Given the description of an element on the screen output the (x, y) to click on. 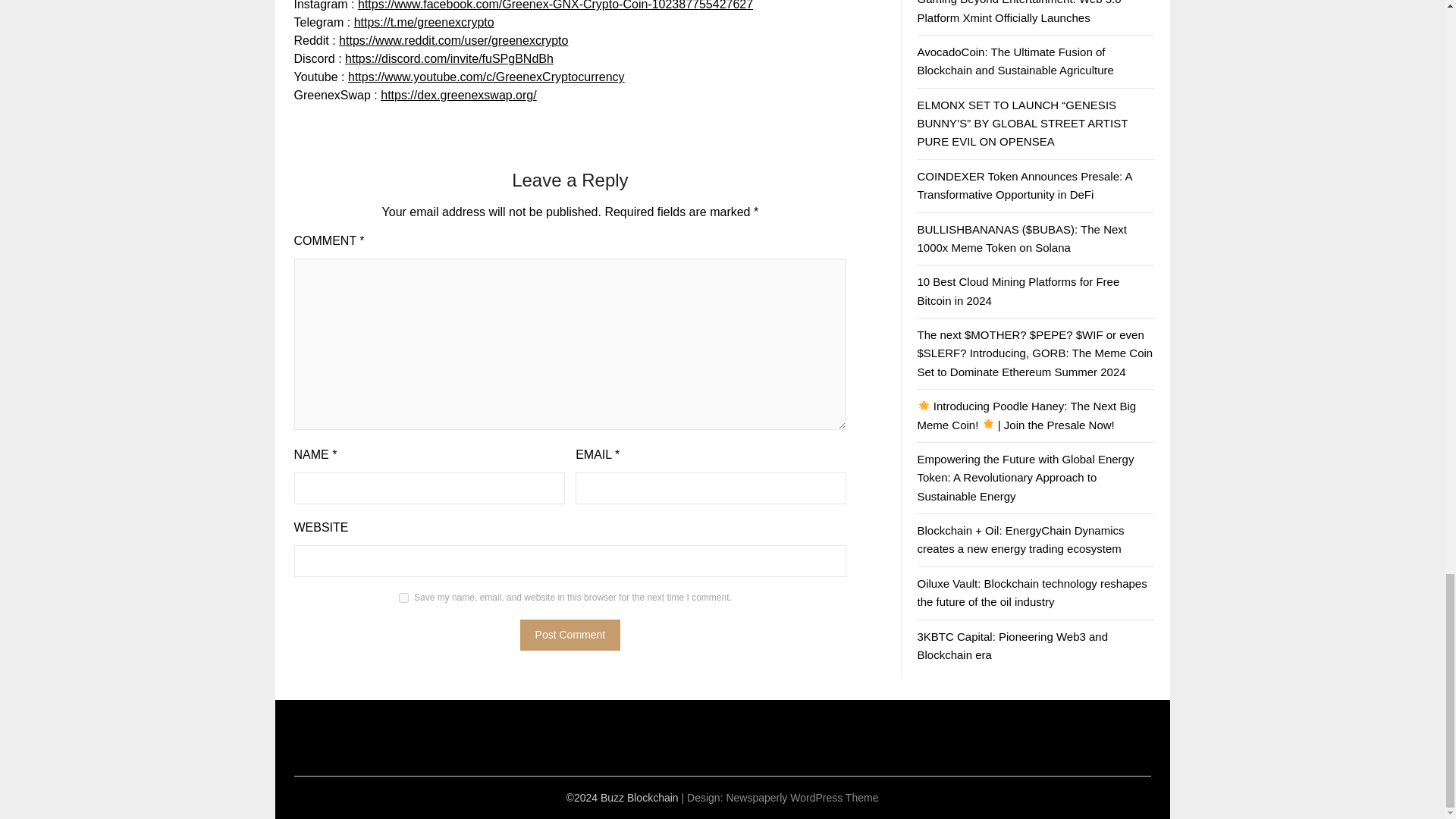
Post Comment (570, 634)
Post Comment (570, 634)
yes (403, 597)
